Given the description of an element on the screen output the (x, y) to click on. 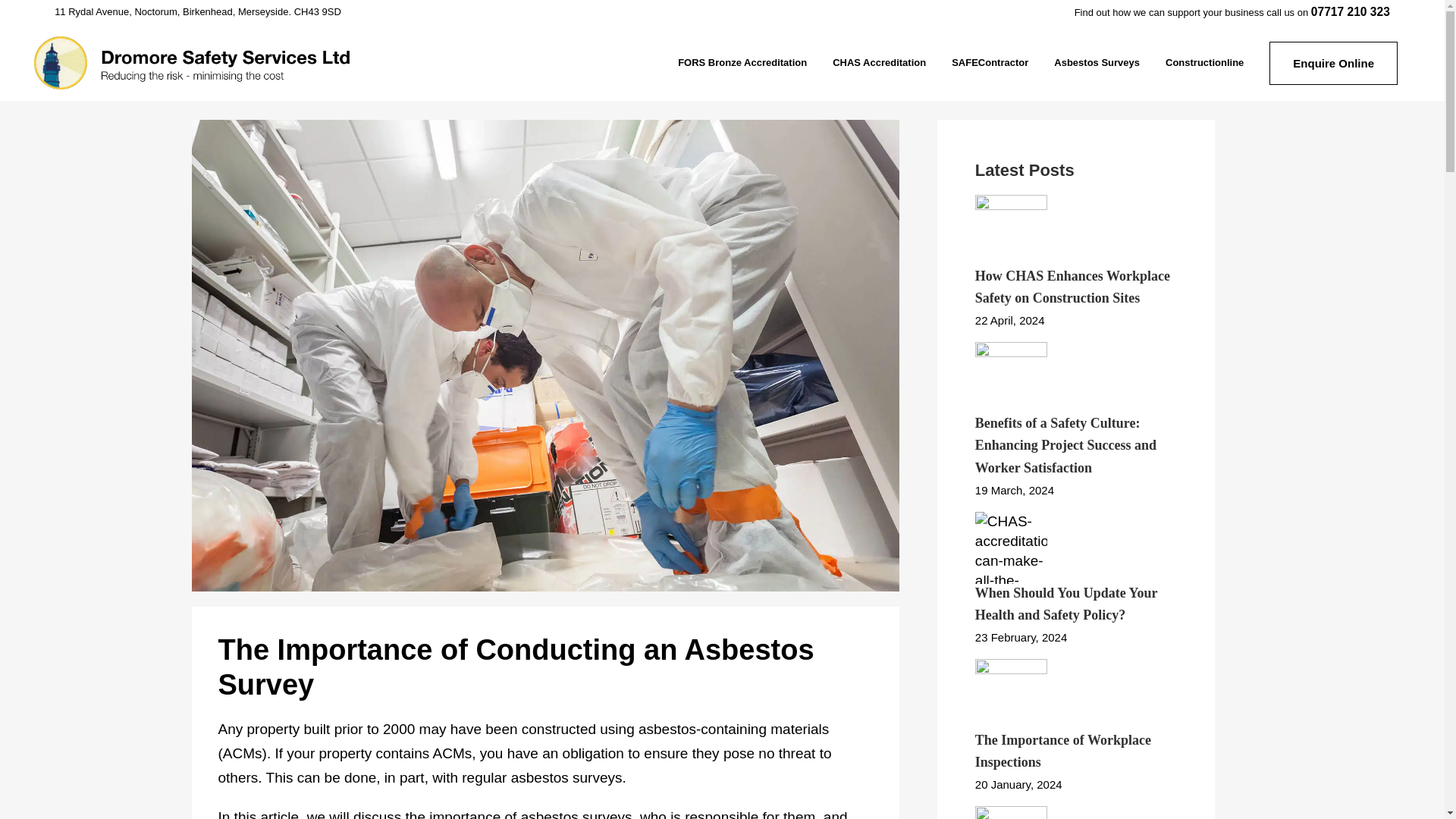
07717 210 323 (1350, 11)
Asbestos Surveys (1097, 62)
The Importance of Workplace Inspections (1063, 751)
When Should You Update Your Health and Safety Policy? (1066, 604)
SAFEContractor (990, 62)
Enquire Online (1333, 62)
FORS Bronze Accreditation (742, 62)
How CHAS Enhances Workplace Safety on Construction Sites (1072, 287)
CHAS Accreditation (879, 62)
Constructionline (1204, 62)
